Given the description of an element on the screen output the (x, y) to click on. 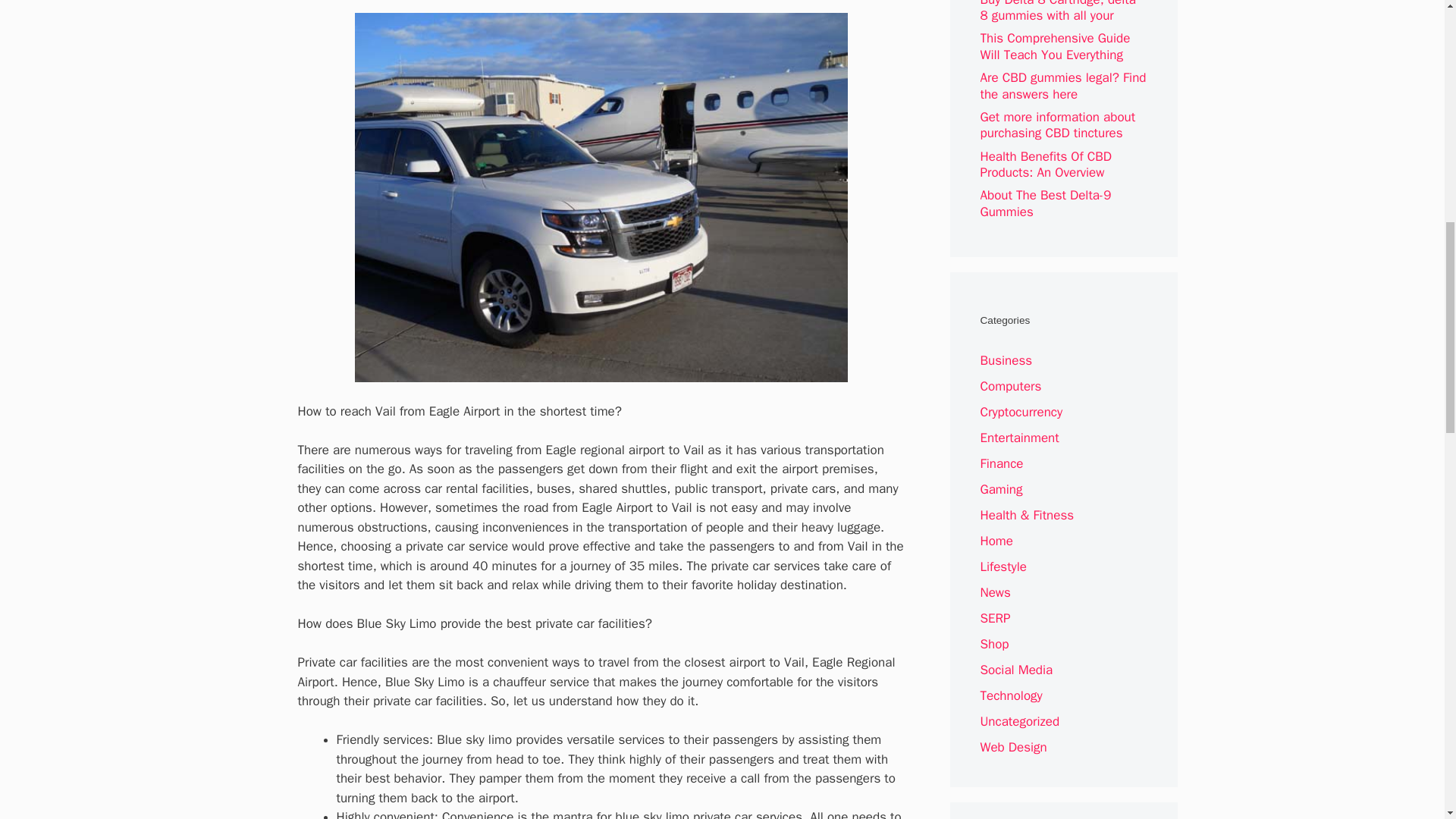
About The Best Delta-9 Gummies (1044, 203)
Health Benefits Of CBD Products: An Overview (1045, 164)
News (994, 592)
Finance (1001, 463)
Computers (1010, 385)
Business (1005, 360)
Cryptocurrency (1020, 412)
